Given the description of an element on the screen output the (x, y) to click on. 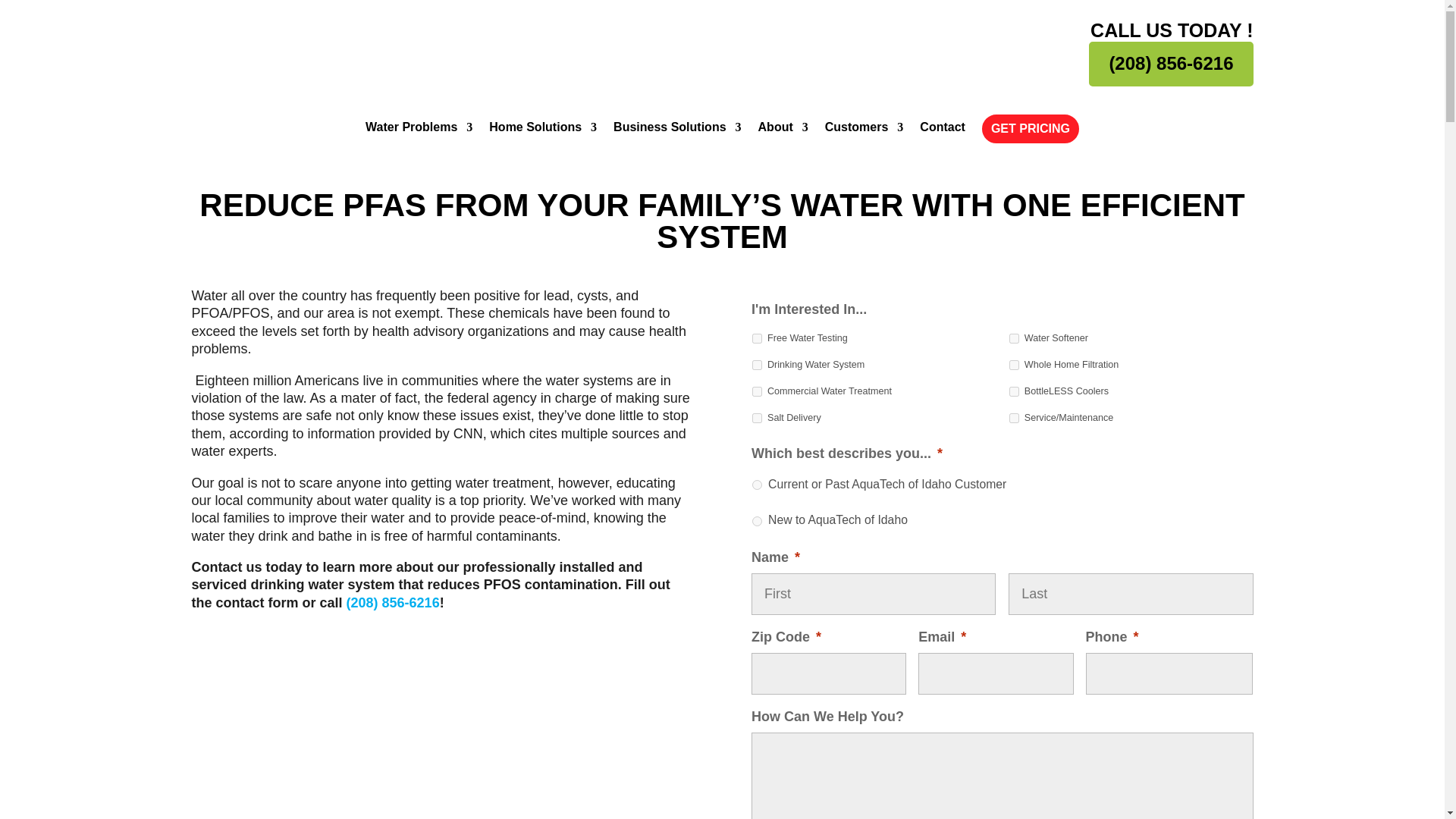
Current or Past AquaTech of Idaho Customer (756, 484)
Whole Home Filtration (1014, 365)
New to AquaTech of Idaho (756, 521)
Water Problems (418, 138)
Commercial Water Treatment (756, 391)
Drinking Water System (756, 365)
aquatech-of-idaho-logo (296, 48)
Water Softener (1014, 338)
Salt Delivery (756, 418)
BottleLESS Coolers (1014, 391)
